Given the description of an element on the screen output the (x, y) to click on. 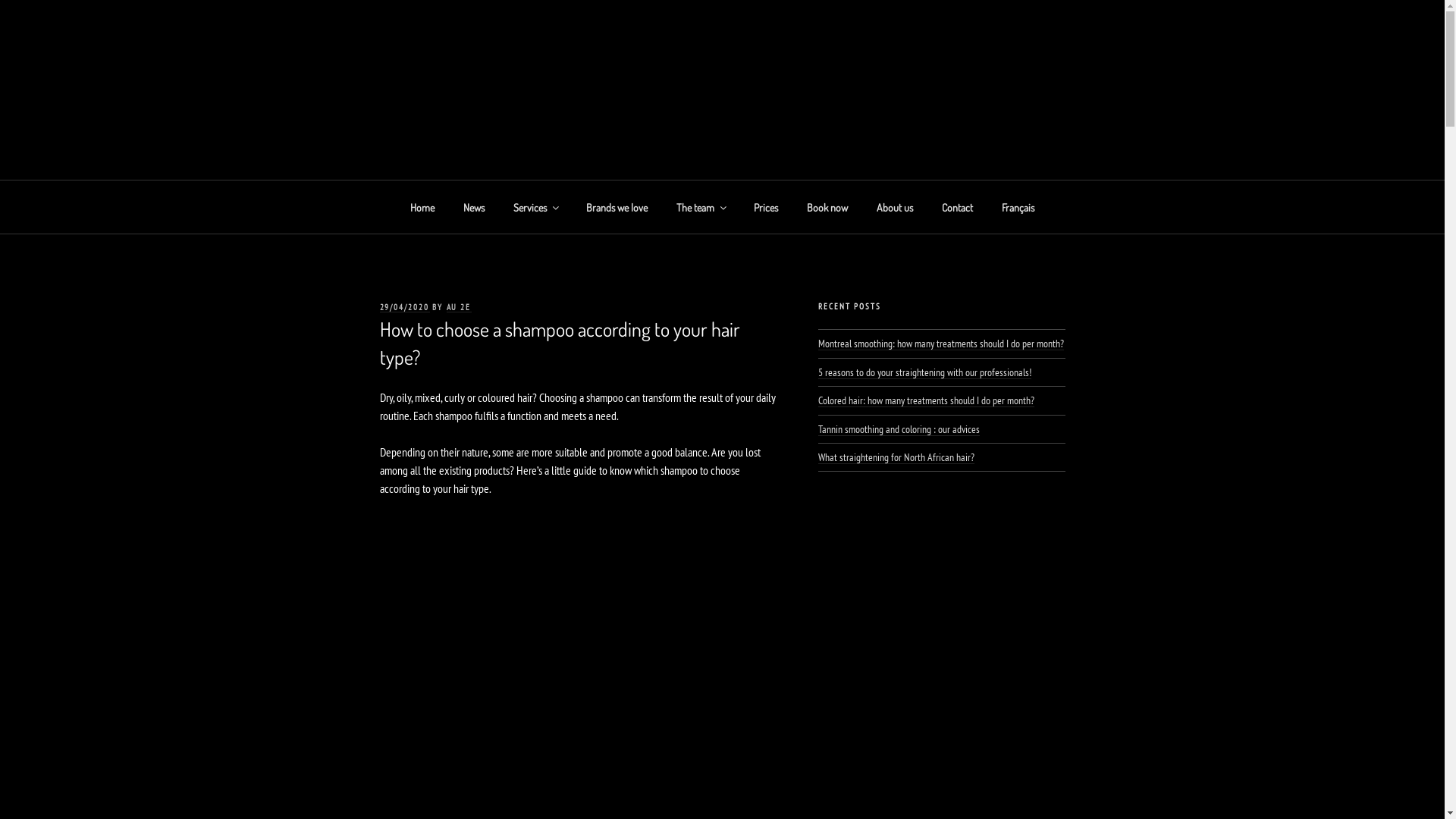
5 reasons to do your straightening with our professionals! Element type: text (924, 372)
29/04/2020 Element type: text (404, 306)
About us Element type: text (893, 206)
AU 2E Element type: text (412, 160)
Contact Element type: text (956, 206)
What straightening for North African hair? Element type: text (896, 457)
Book now Element type: text (826, 206)
Prices Element type: text (765, 206)
AU 2E Element type: text (457, 306)
Colored hair: how many treatments should I do per month? Element type: text (926, 400)
News Element type: text (474, 206)
The team Element type: text (699, 206)
Services Element type: text (535, 206)
Tannin smoothing and coloring : our advices Element type: text (898, 429)
Home Element type: text (422, 206)
Brands we love Element type: text (617, 206)
